Given the description of an element on the screen output the (x, y) to click on. 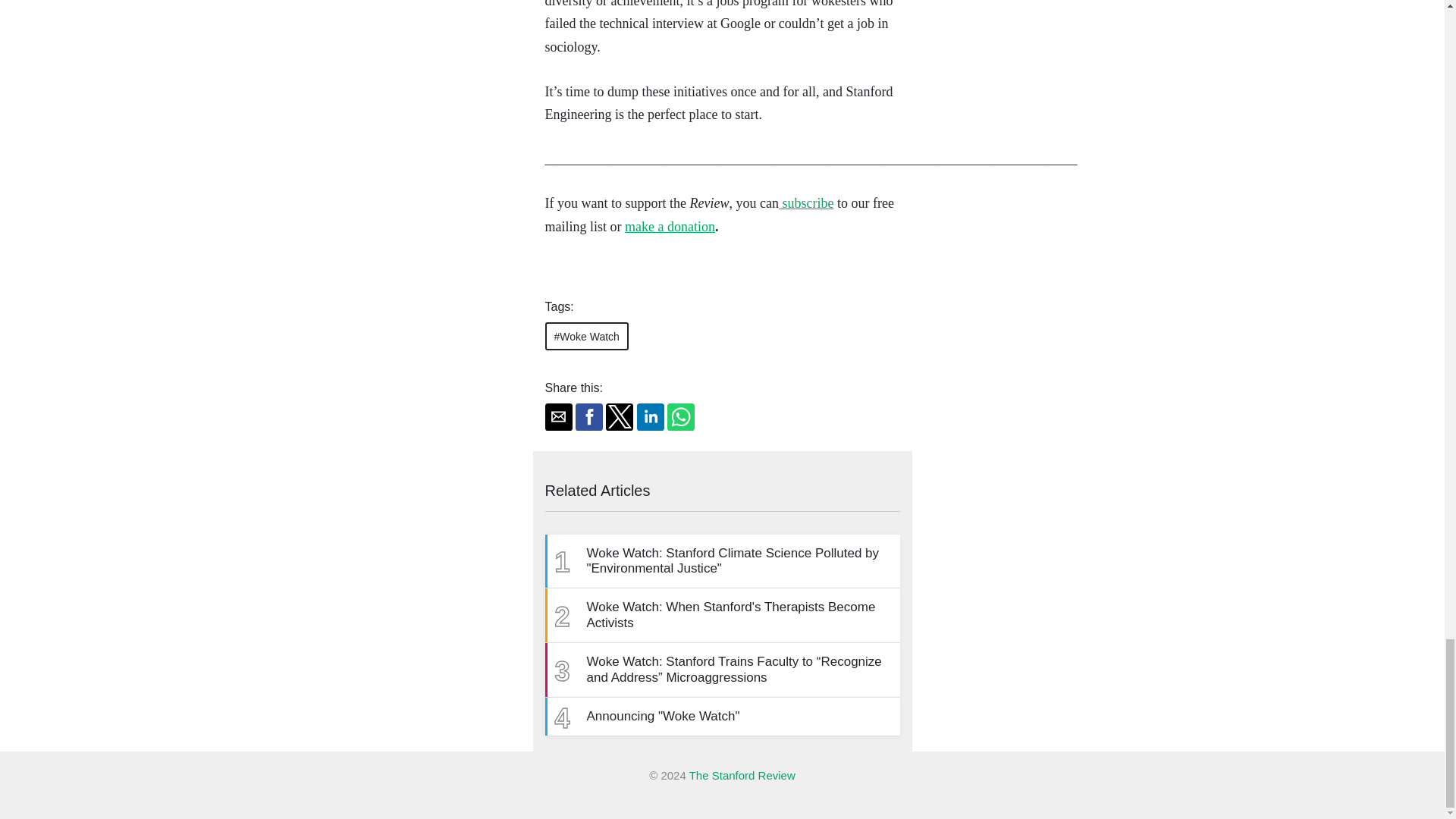
The Stanford Review (741, 775)
Woke Watch (585, 336)
subscribe (805, 202)
make a donation (721, 615)
Woke Watch (669, 226)
